Given the description of an element on the screen output the (x, y) to click on. 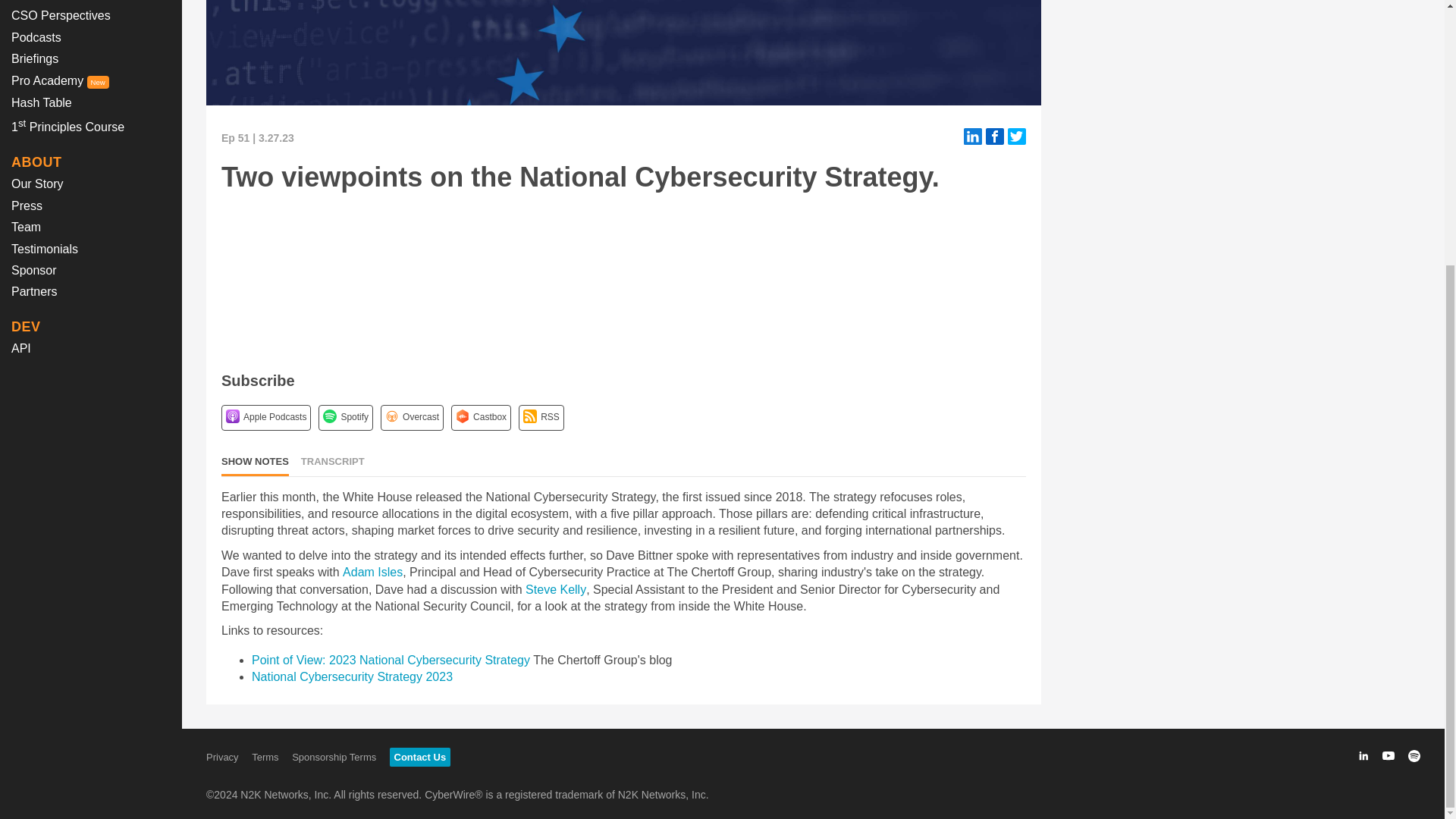
Our Story (36, 183)
Overcast (391, 416)
Briefings (34, 58)
Podcasts (36, 37)
Press (26, 205)
Team (25, 226)
1st Principles Course (67, 126)
RSS (529, 416)
Spotify (329, 416)
Pro Academy New (60, 80)
